Given the description of an element on the screen output the (x, y) to click on. 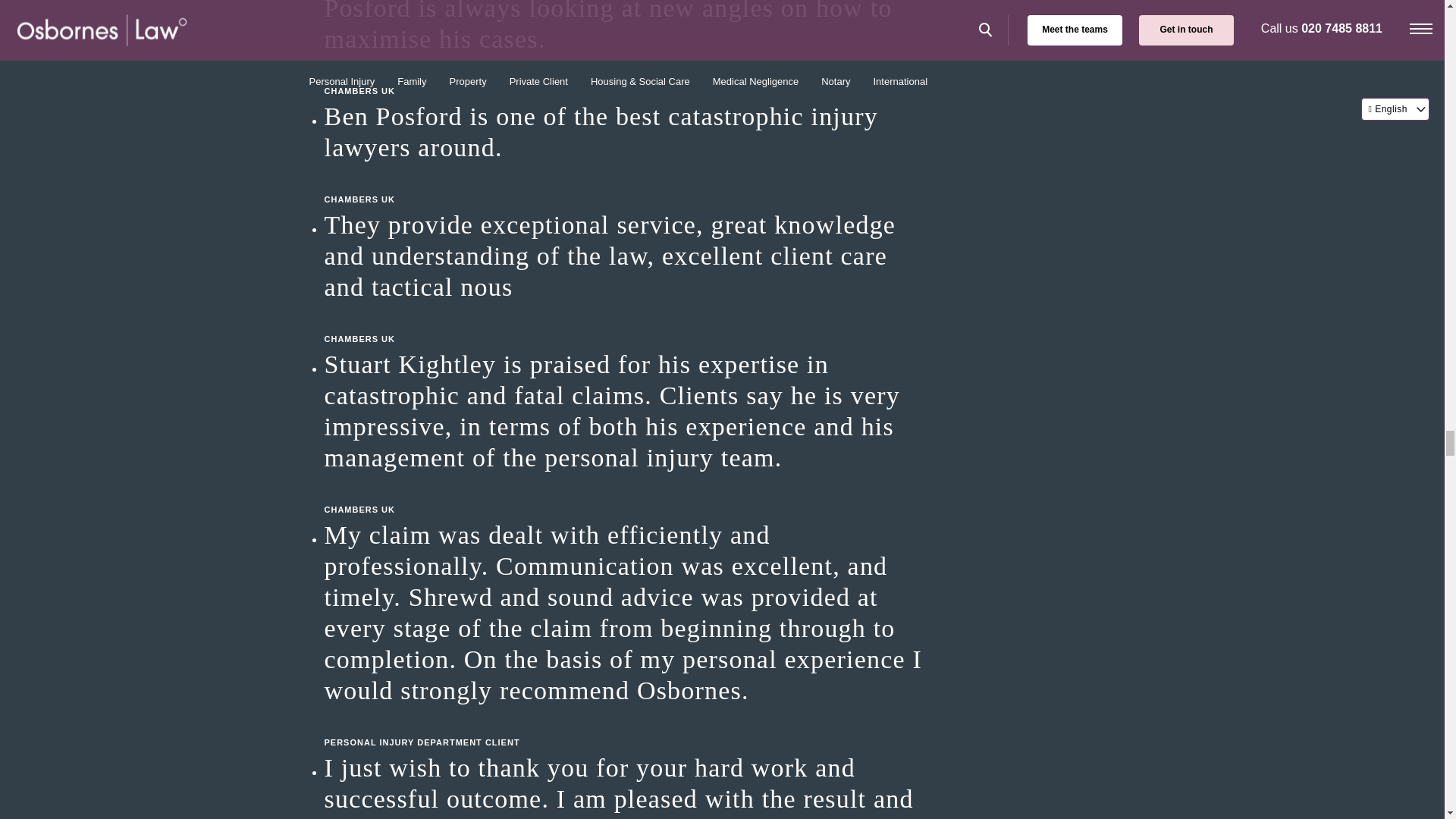
CHAMBERS UK (627, 494)
PERSONAL INJURY DEPARTMENT CLIENT (627, 726)
CHAMBERS UK (627, 75)
CHAMBERS UK (627, 183)
CHAMBERS UK (627, 323)
